Given the description of an element on the screen output the (x, y) to click on. 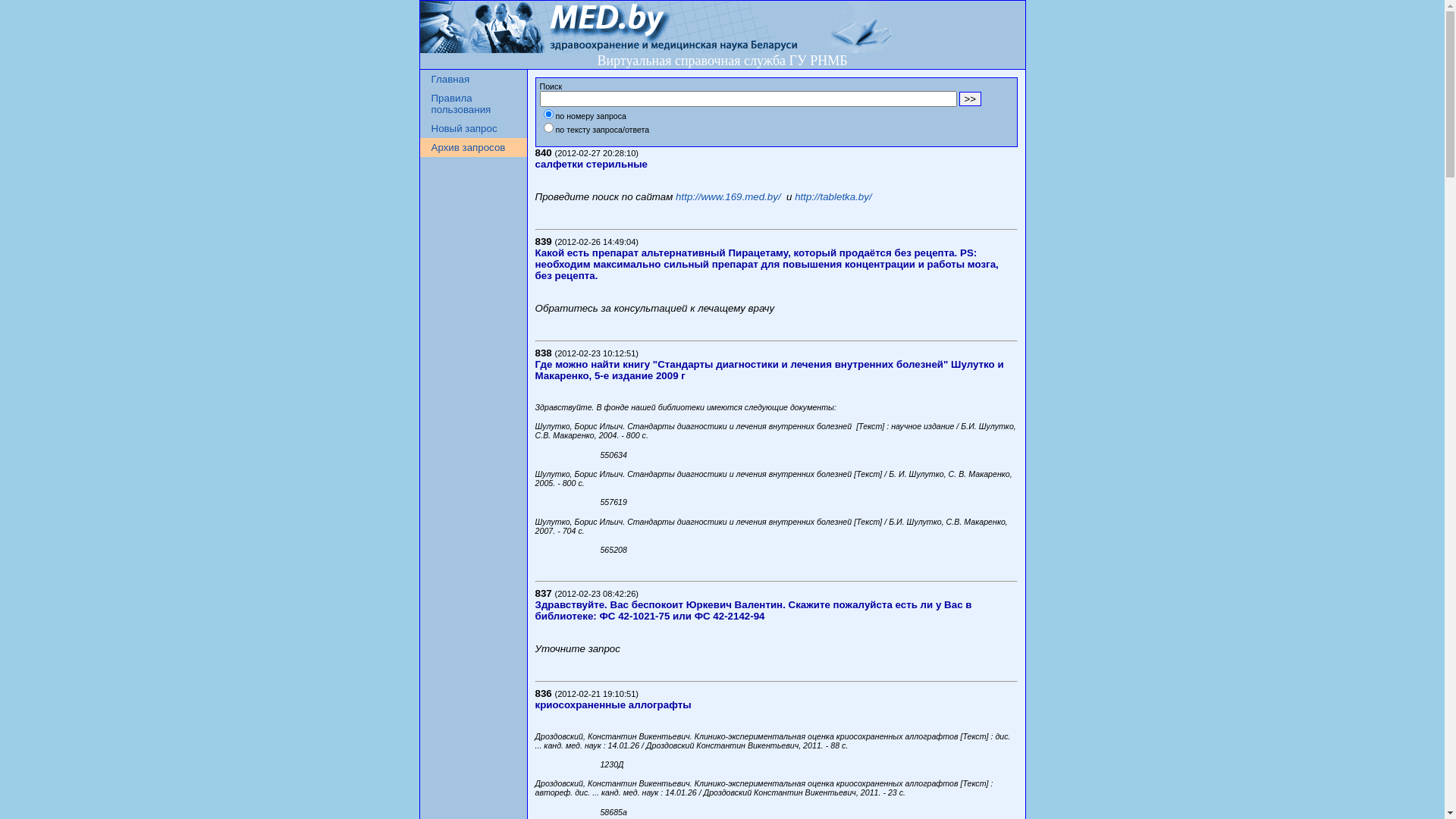
http://www.169.med.by/ Element type: text (728, 196)
>> Element type: text (969, 98)
http://tabletka.by/ Element type: text (833, 196)
